Given the description of an element on the screen output the (x, y) to click on. 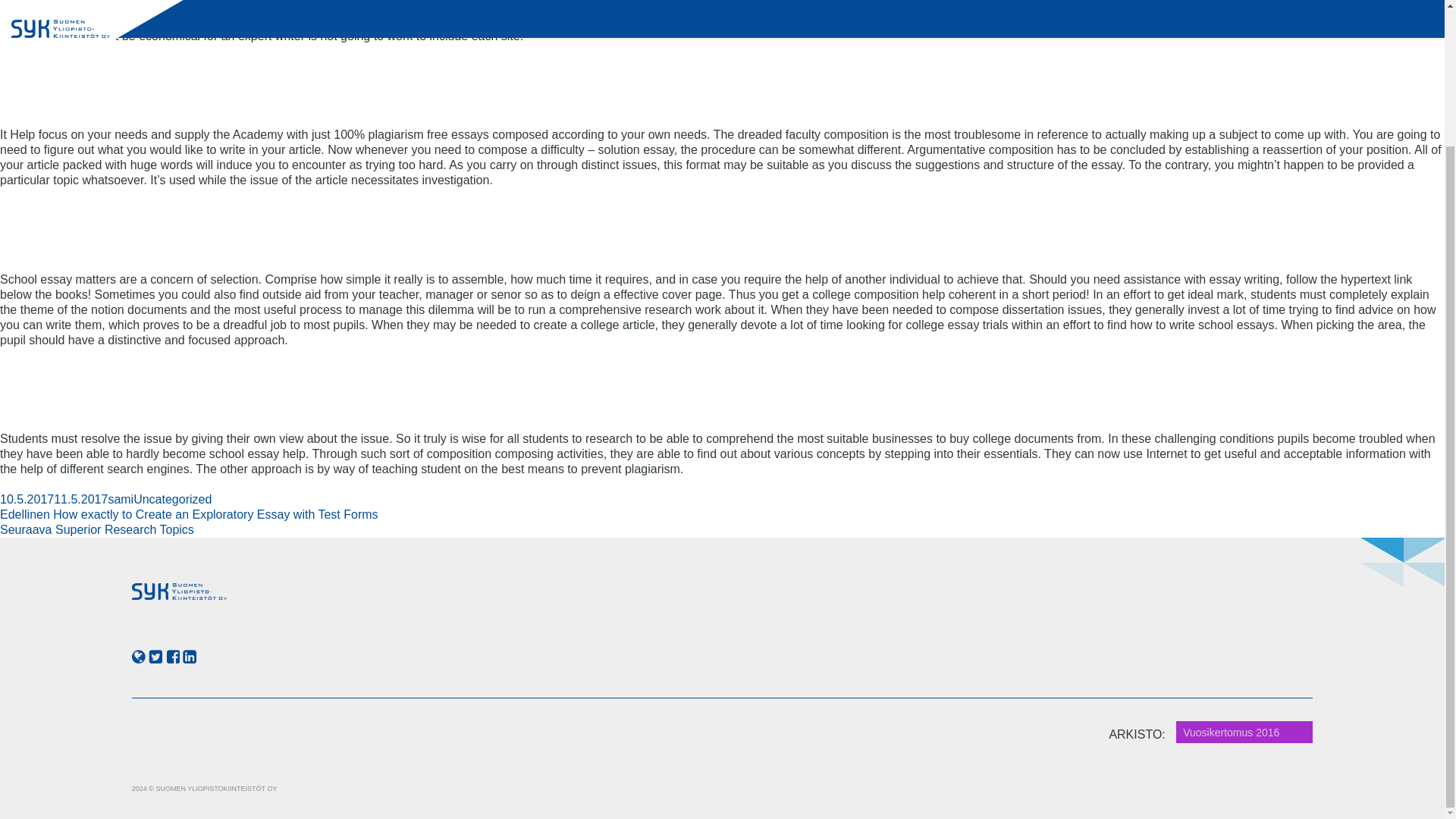
WWW (138, 656)
Facebook (172, 656)
sami (120, 499)
Twitter (96, 529)
LinkedIn (154, 656)
10.5.201711.5.2017 (189, 656)
Uncategorized (53, 499)
MAINOSTOIMISTO PROPAGANDA FINLAND OY (172, 499)
